Given the description of an element on the screen output the (x, y) to click on. 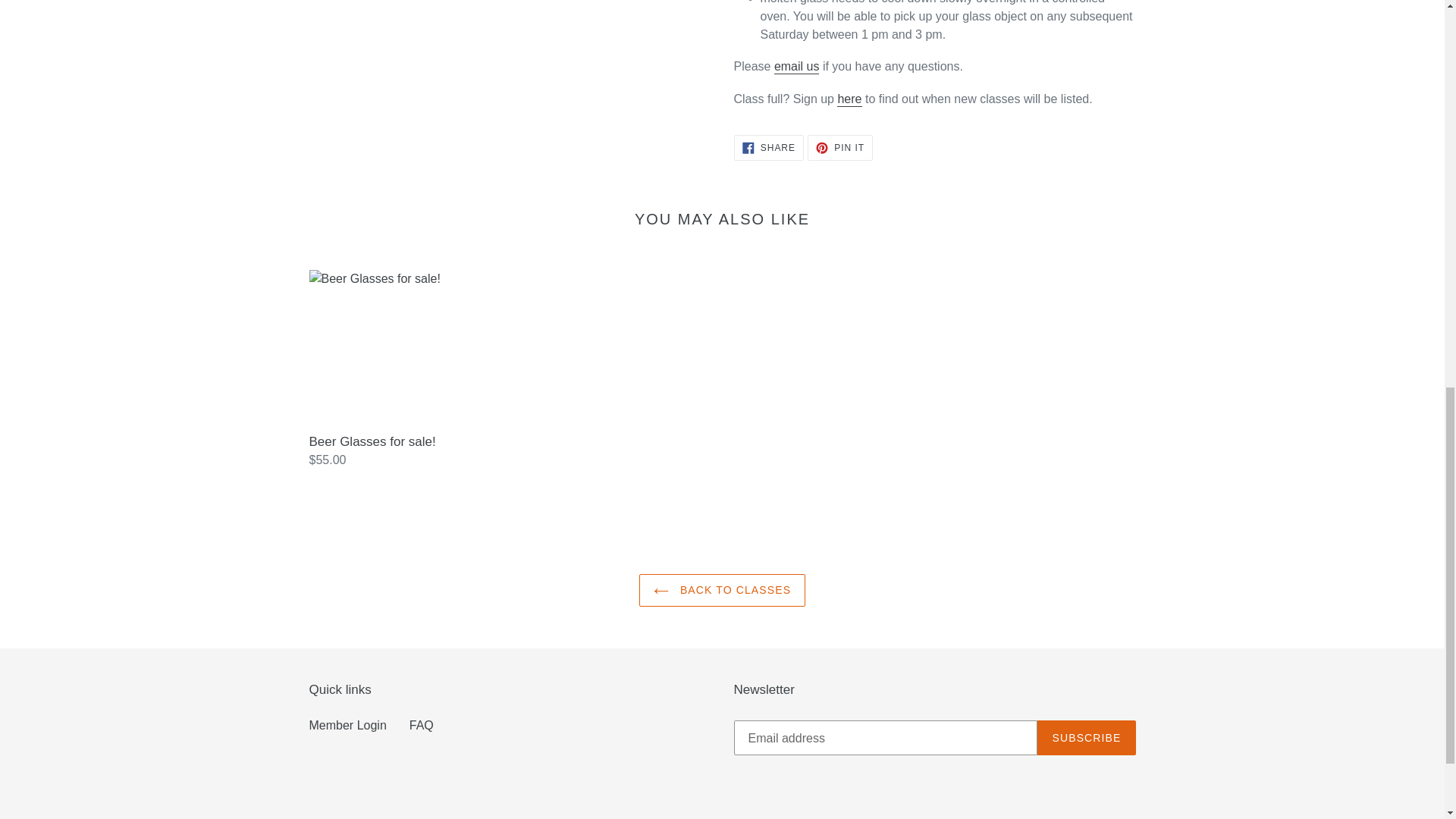
Notification list (849, 99)
